Given the description of an element on the screen output the (x, y) to click on. 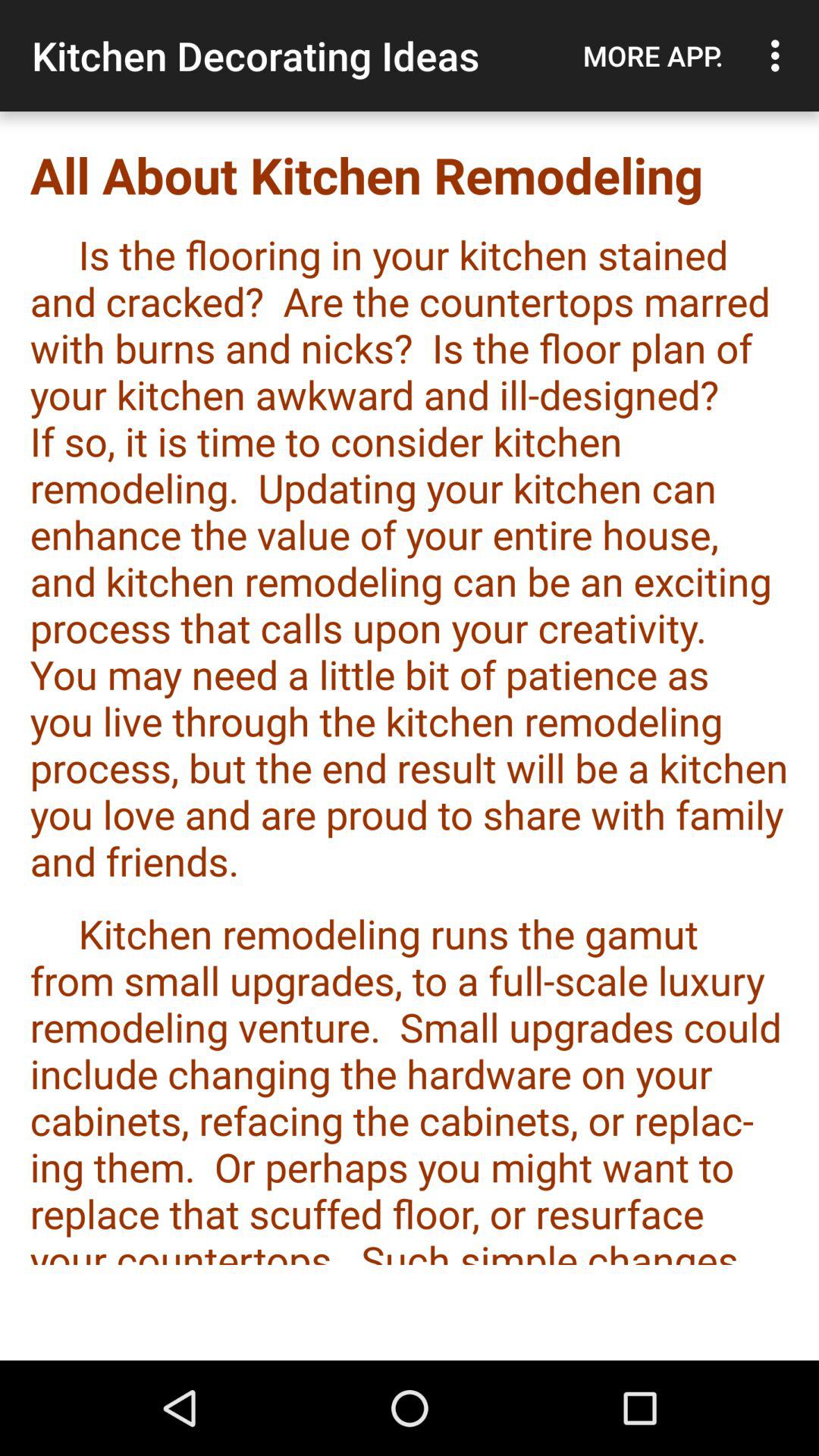
press the item to the right of kitchen decorating ideas (653, 55)
